Given the description of an element on the screen output the (x, y) to click on. 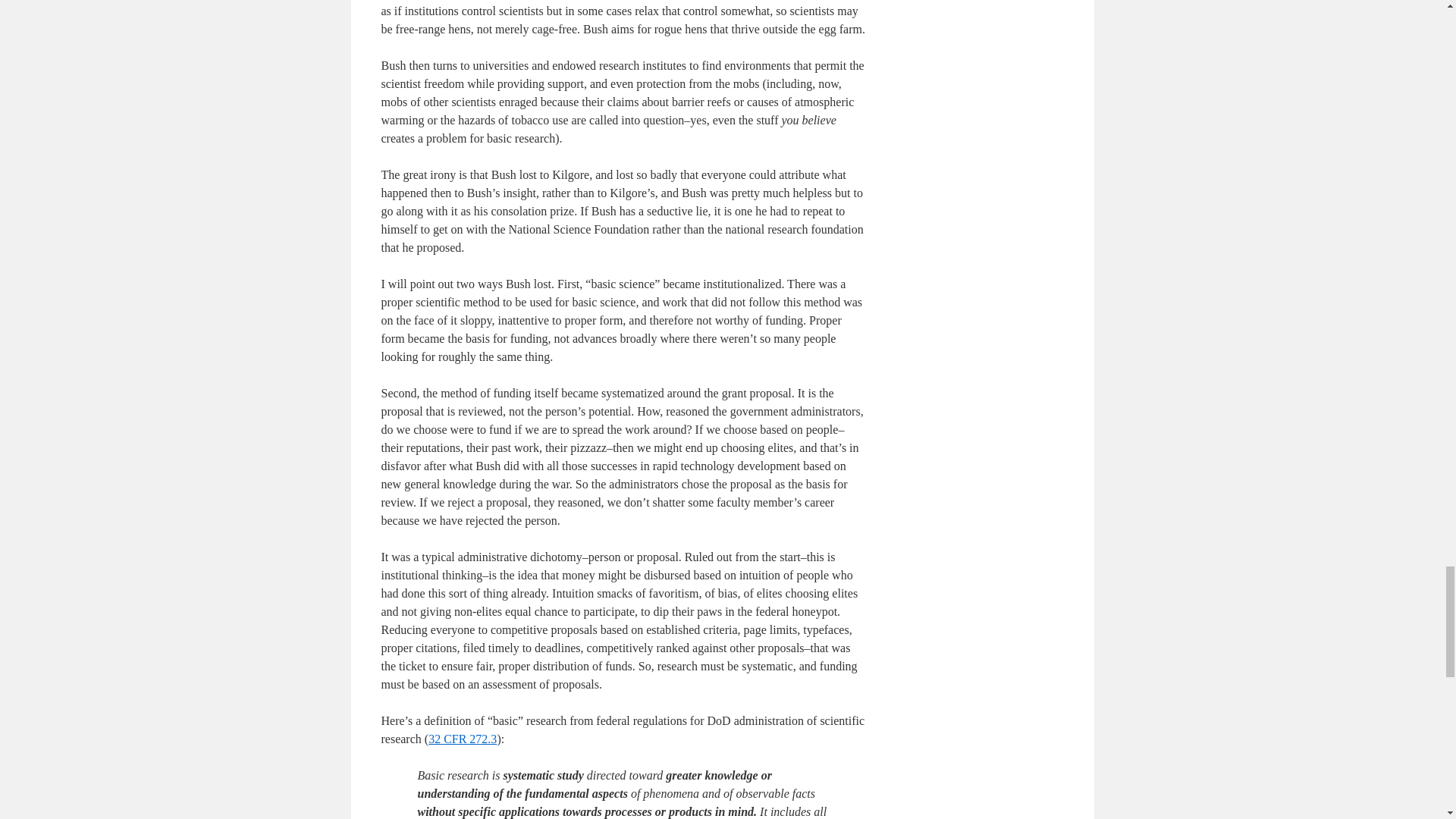
32 CFR 272.3 (462, 738)
